Given the description of an element on the screen output the (x, y) to click on. 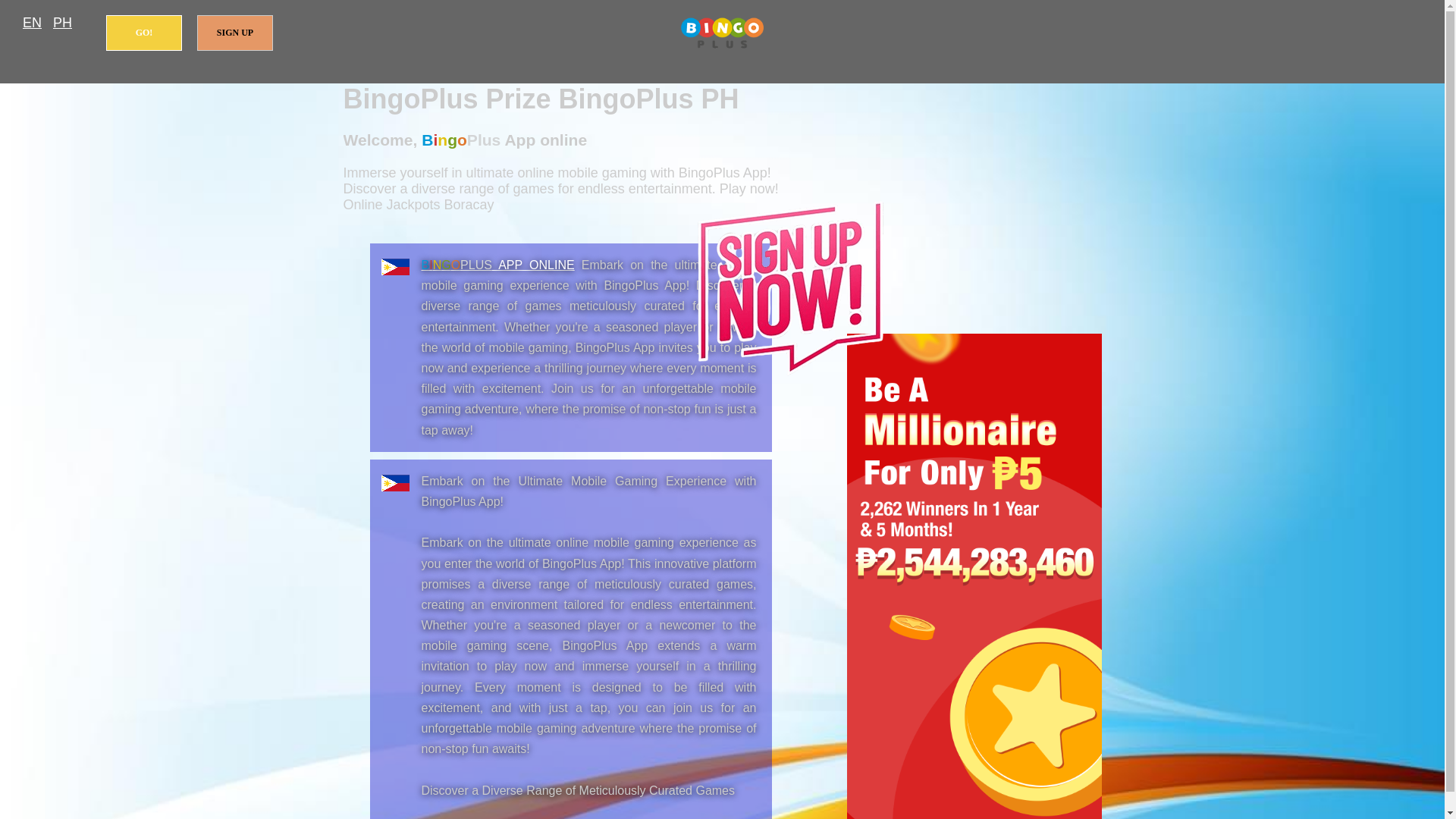
GO! (144, 32)
EN (32, 23)
SIGN UP (234, 32)
PH (61, 23)
Pilipinas - Filipino (61, 23)
BingoPlus App online (721, 32)
BINGOPLUS APP ONLINE (498, 264)
English - Filipino (32, 23)
BingoPlus App online (498, 264)
